Given the description of an element on the screen output the (x, y) to click on. 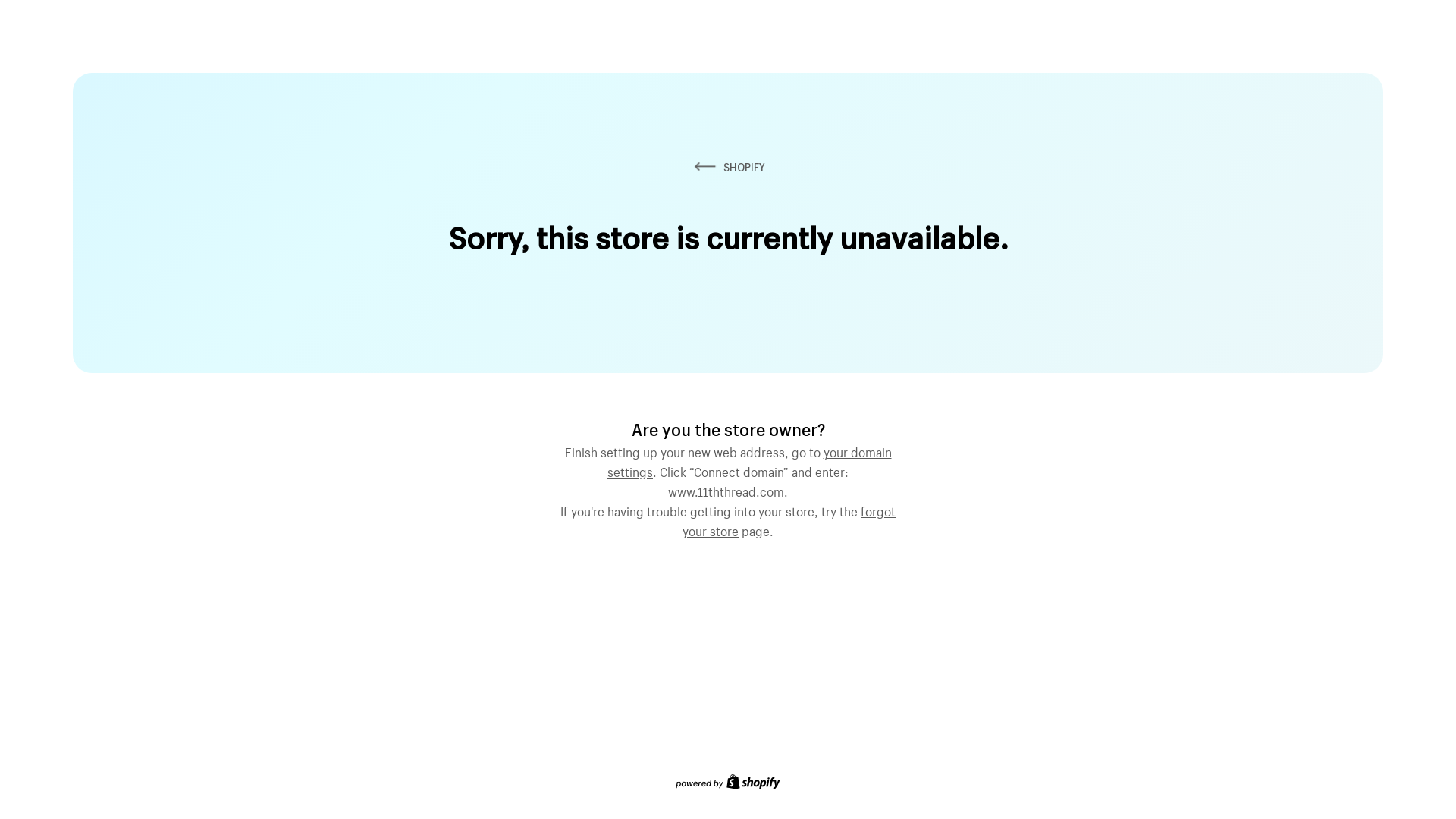
forgot your store Element type: text (788, 519)
your domain settings Element type: text (749, 460)
SHOPIFY Element type: text (727, 167)
